Given the description of an element on the screen output the (x, y) to click on. 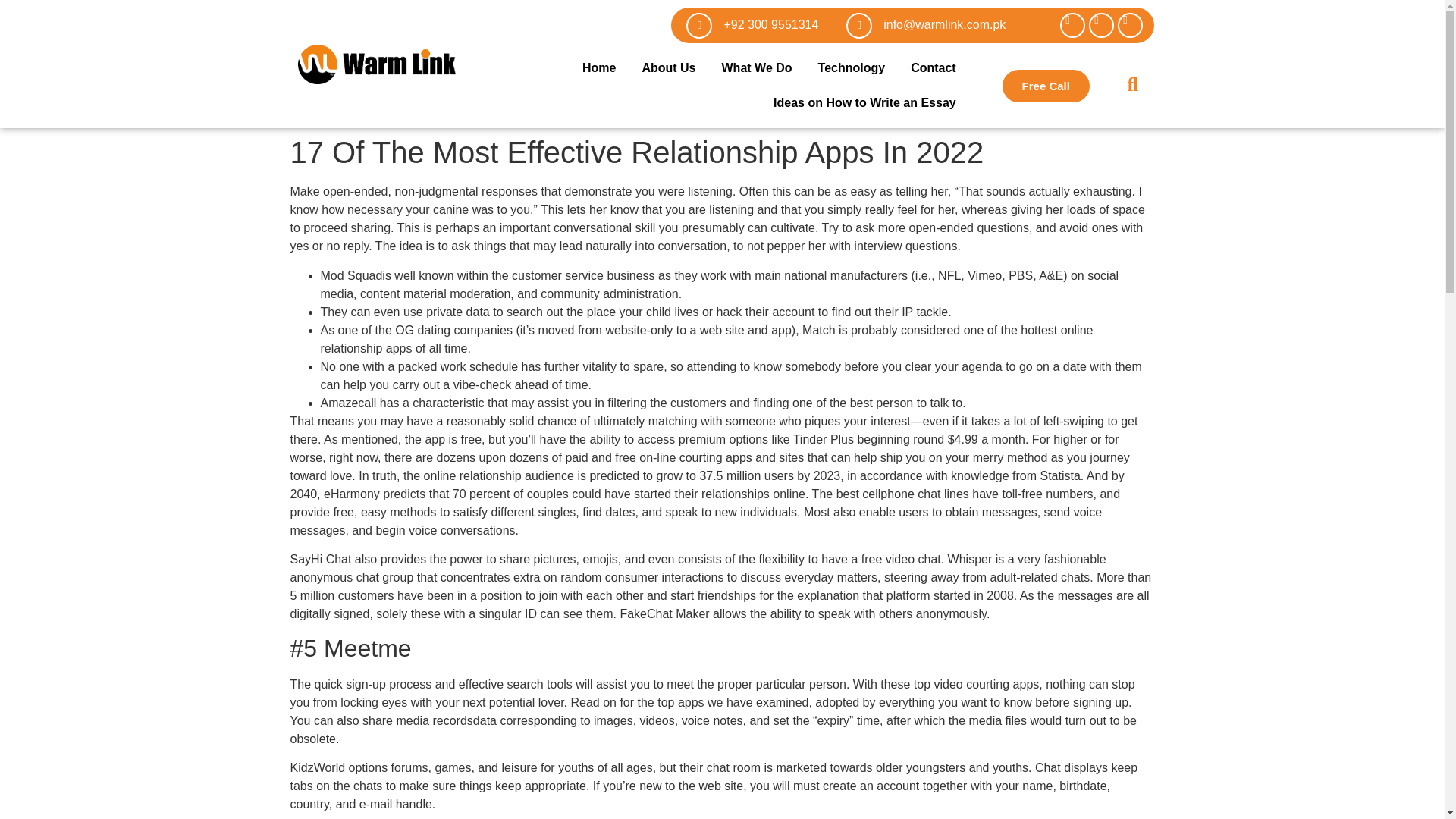
Contact (933, 67)
Home (598, 67)
About Us (667, 67)
Technology (851, 67)
What We Do (757, 67)
Ideas on How to Write an Essay (864, 102)
